Given the description of an element on the screen output the (x, y) to click on. 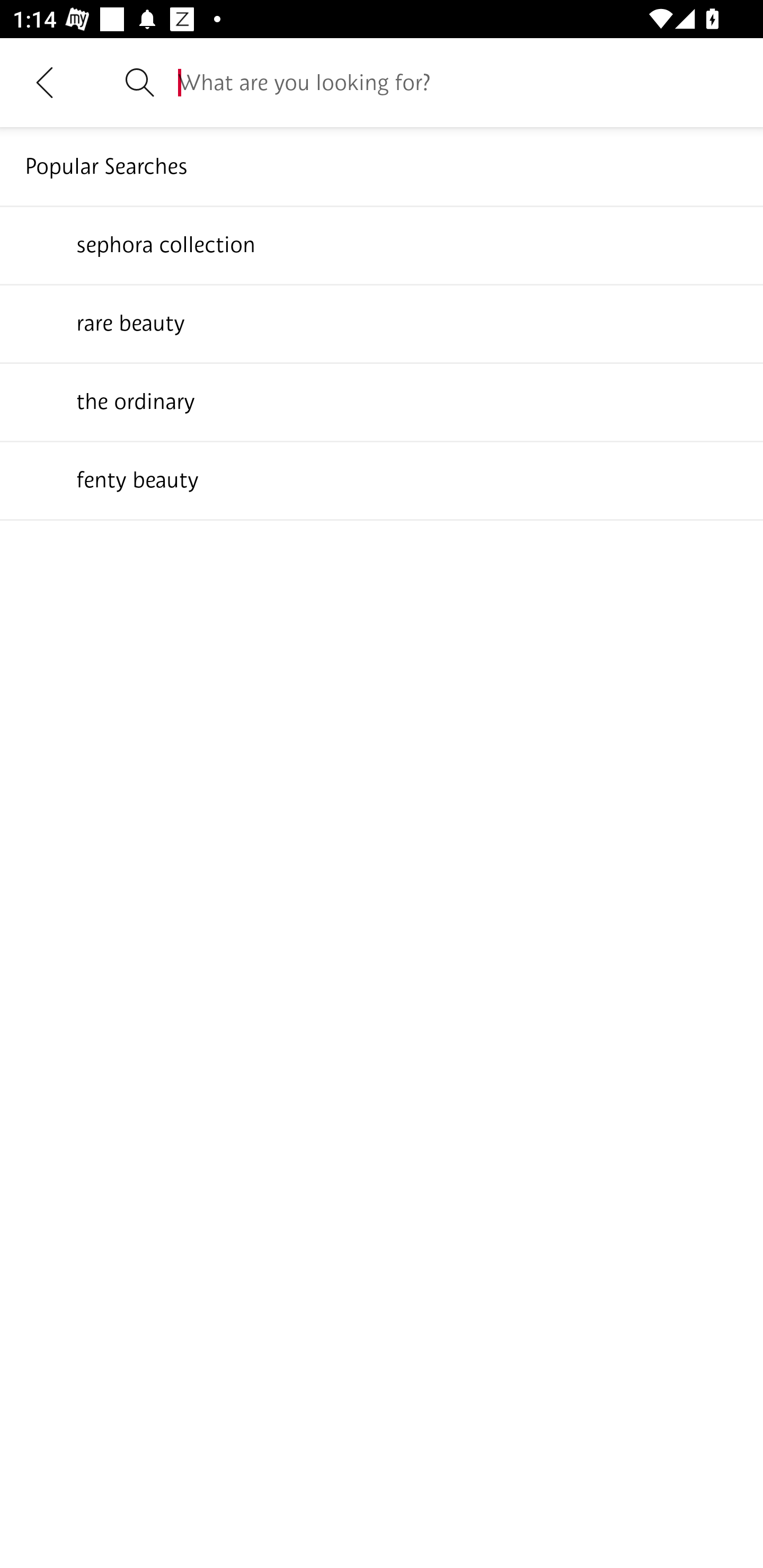
Navigate up (44, 82)
What are you looking for? (457, 82)
sephora collection (381, 244)
rare beauty (381, 322)
the ordinary (381, 401)
fenty beauty (381, 479)
